Given the description of an element on the screen output the (x, y) to click on. 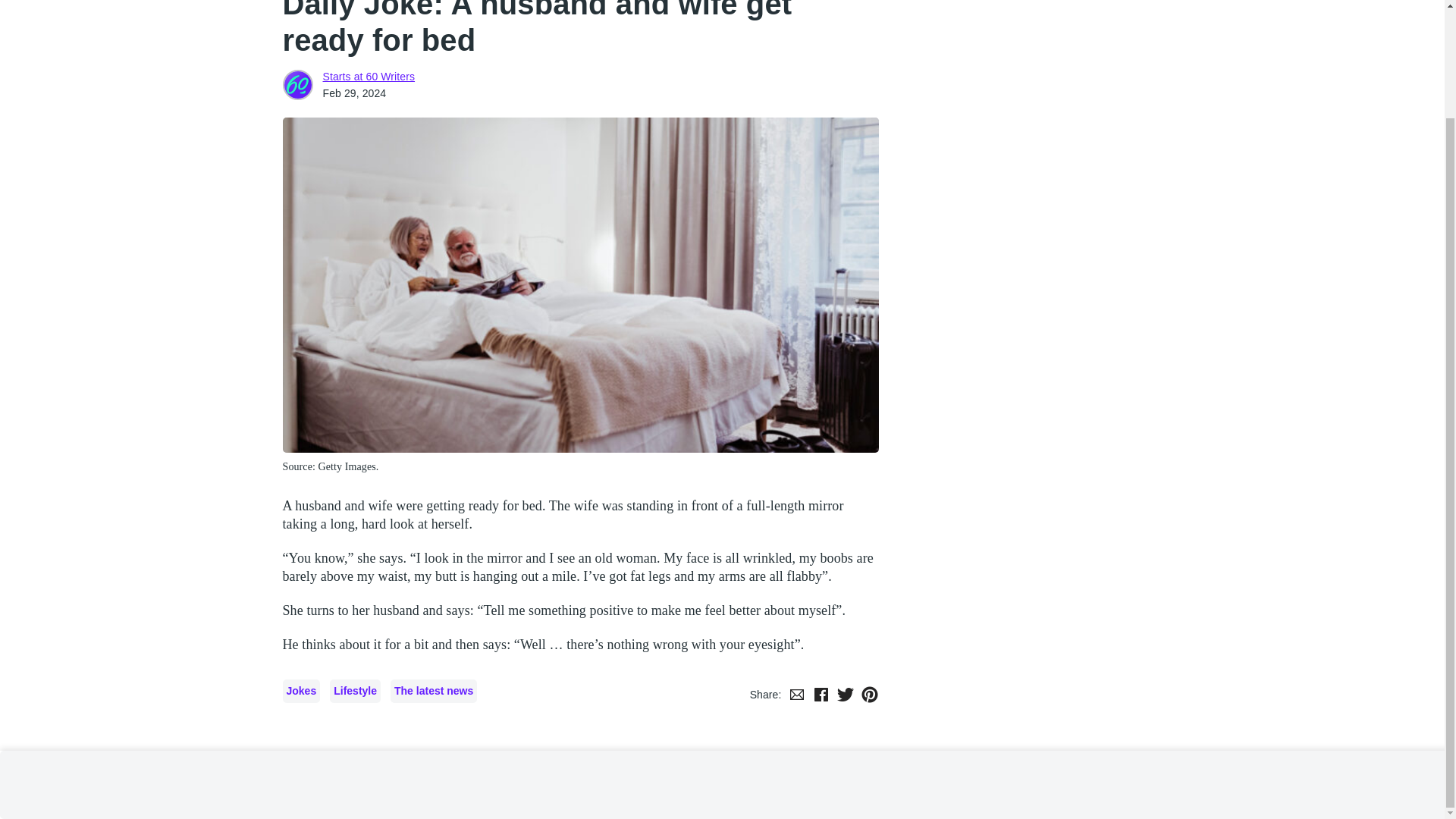
The latest news (433, 690)
Lifestyle (355, 690)
Jokes (301, 690)
Share on Twitter (844, 694)
Share on Pinterest (868, 694)
Starts at 60 Writers (297, 84)
Starts at 60 Writers (368, 76)
Share via email (796, 694)
Share on Facebook (819, 694)
